Given the description of an element on the screen output the (x, y) to click on. 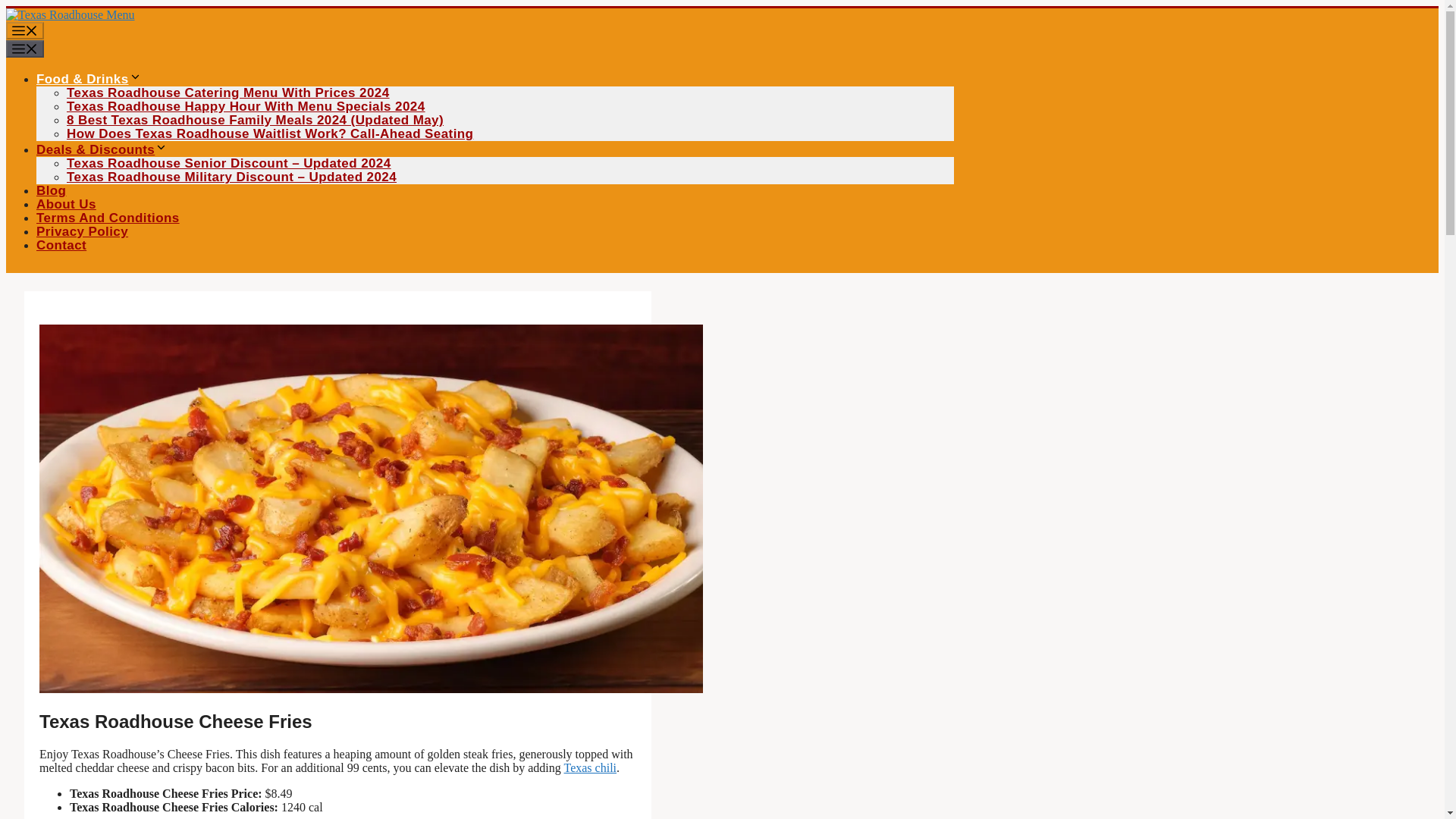
Texas chili (590, 767)
Menu (24, 30)
Texas Roadhouse Happy Hour With Menu Specials 2024 (245, 106)
Privacy Policy (82, 231)
Contact (60, 245)
Menu (24, 48)
Terms And Conditions (107, 217)
Texas Roadhouse Catering Menu With Prices 2024 (228, 92)
